Given the description of an element on the screen output the (x, y) to click on. 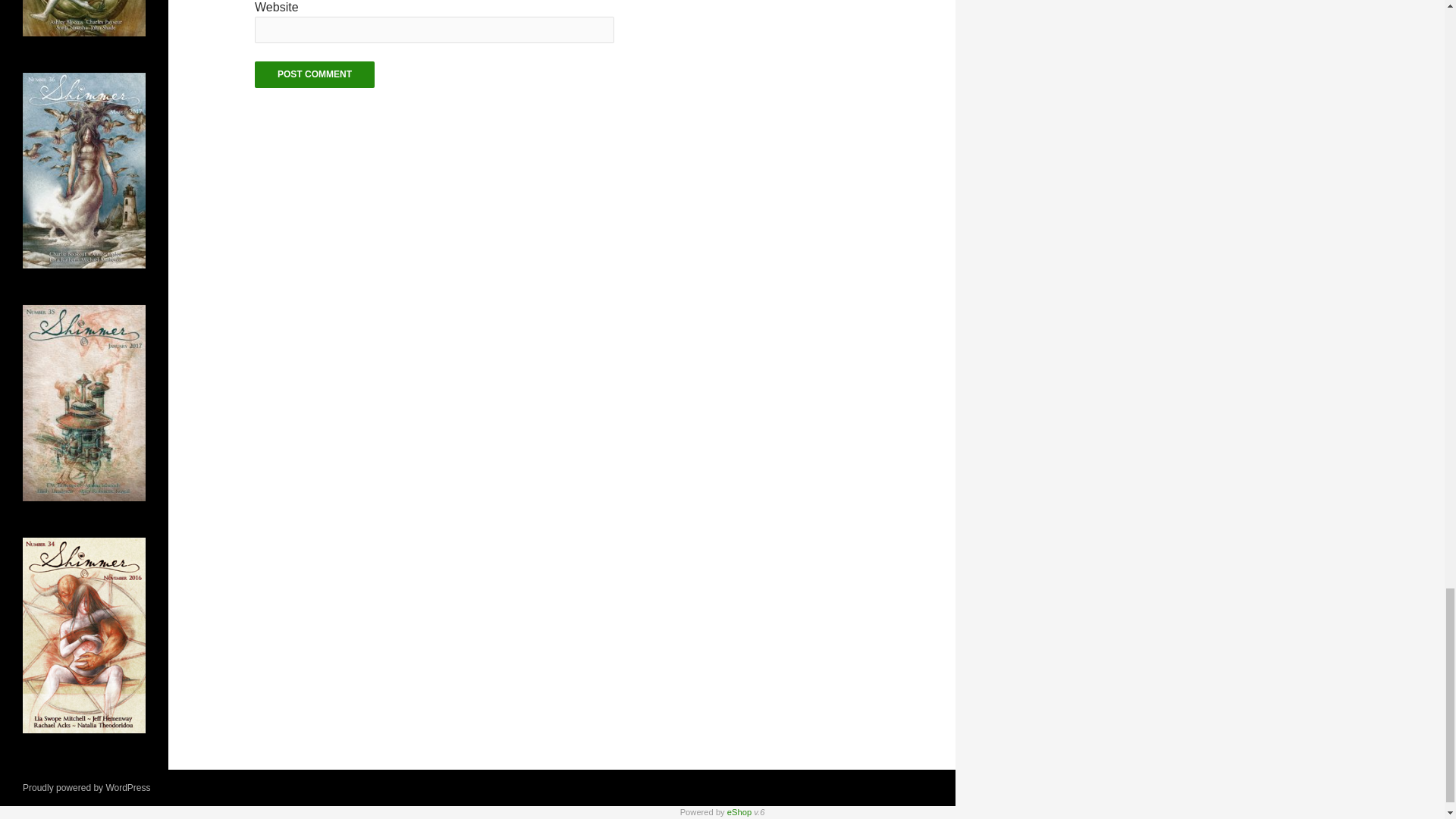
Post Comment (314, 74)
Version 6.3.14 (759, 811)
Post Comment (314, 74)
Created by Rich Pedley (738, 811)
